Given the description of an element on the screen output the (x, y) to click on. 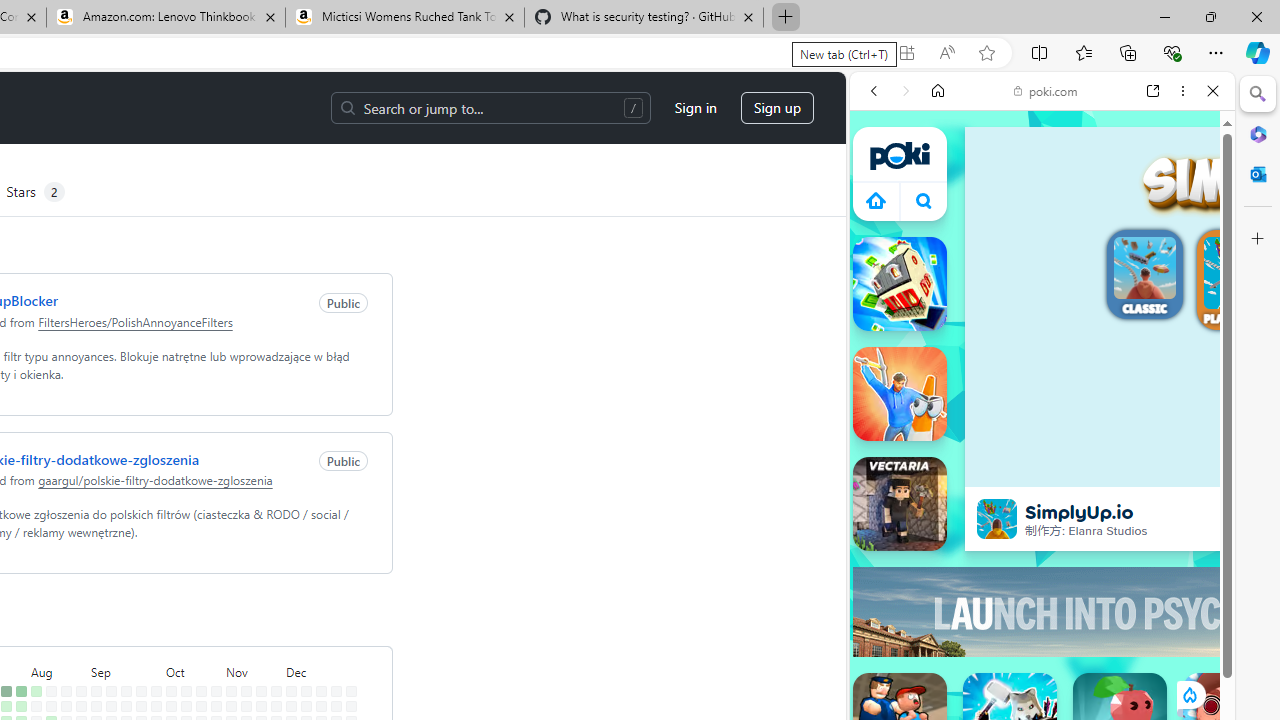
No contributions on December 22nd. (336, 691)
No contributions on November 18th. (261, 706)
November (253, 670)
Sign up (777, 107)
No contributions on September 29th. (156, 691)
No contributions on October 21st. (201, 706)
Forward (906, 91)
Open link in new tab (1153, 91)
No contributions on November 25th. (276, 706)
No contributions on August 5th. (36, 706)
No contributions on September 15th. (126, 691)
Class: aprWdaSScyiJf4Jvmsx9 (875, 200)
Class: rounded img-fluid d-block w-100 fit-cover (1240, 273)
